Given the description of an element on the screen output the (x, y) to click on. 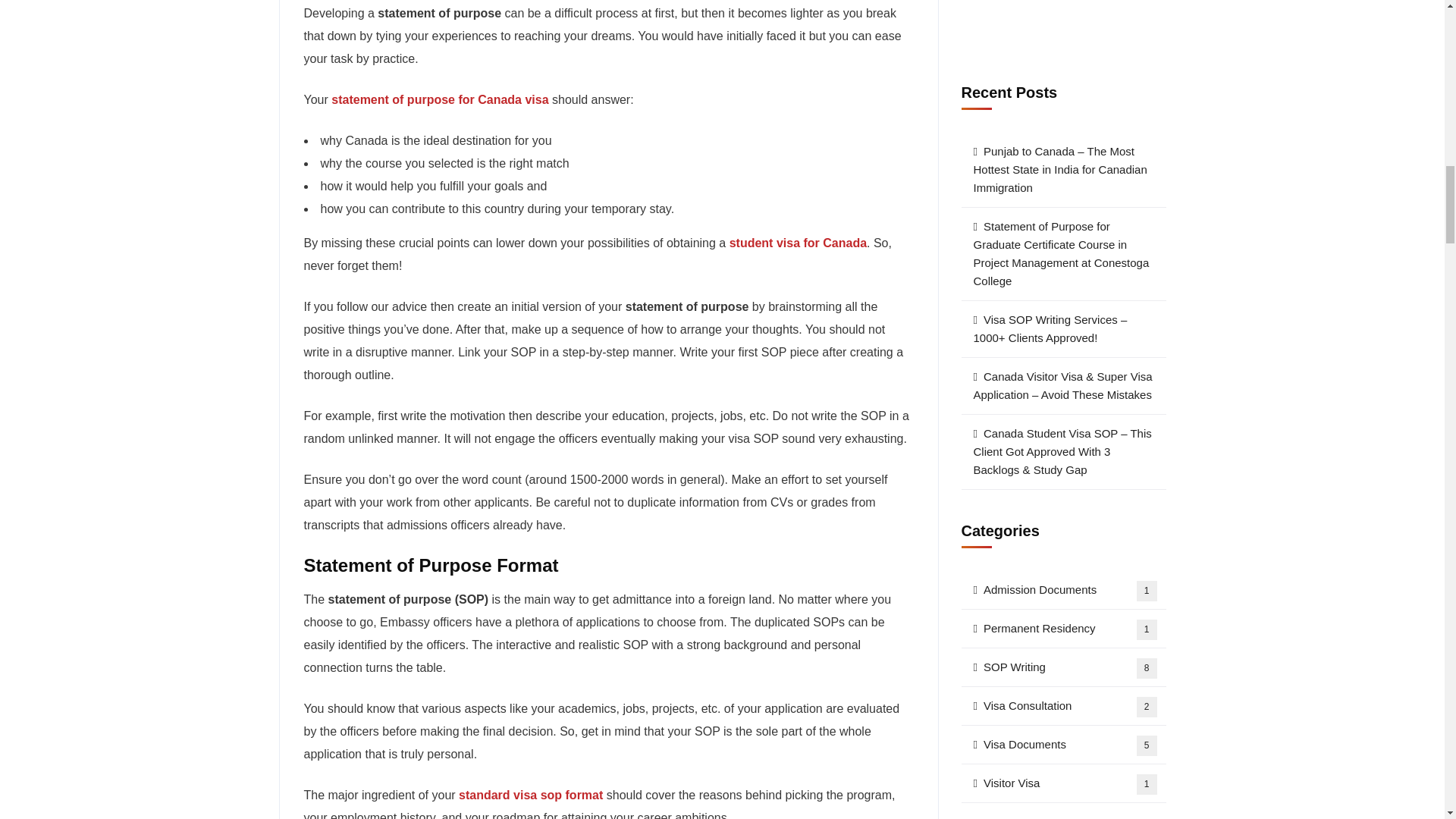
student visa for Canada (797, 242)
statement of purpose for Canada visa (439, 99)
standard visa sop format (530, 794)
